Given the description of an element on the screen output the (x, y) to click on. 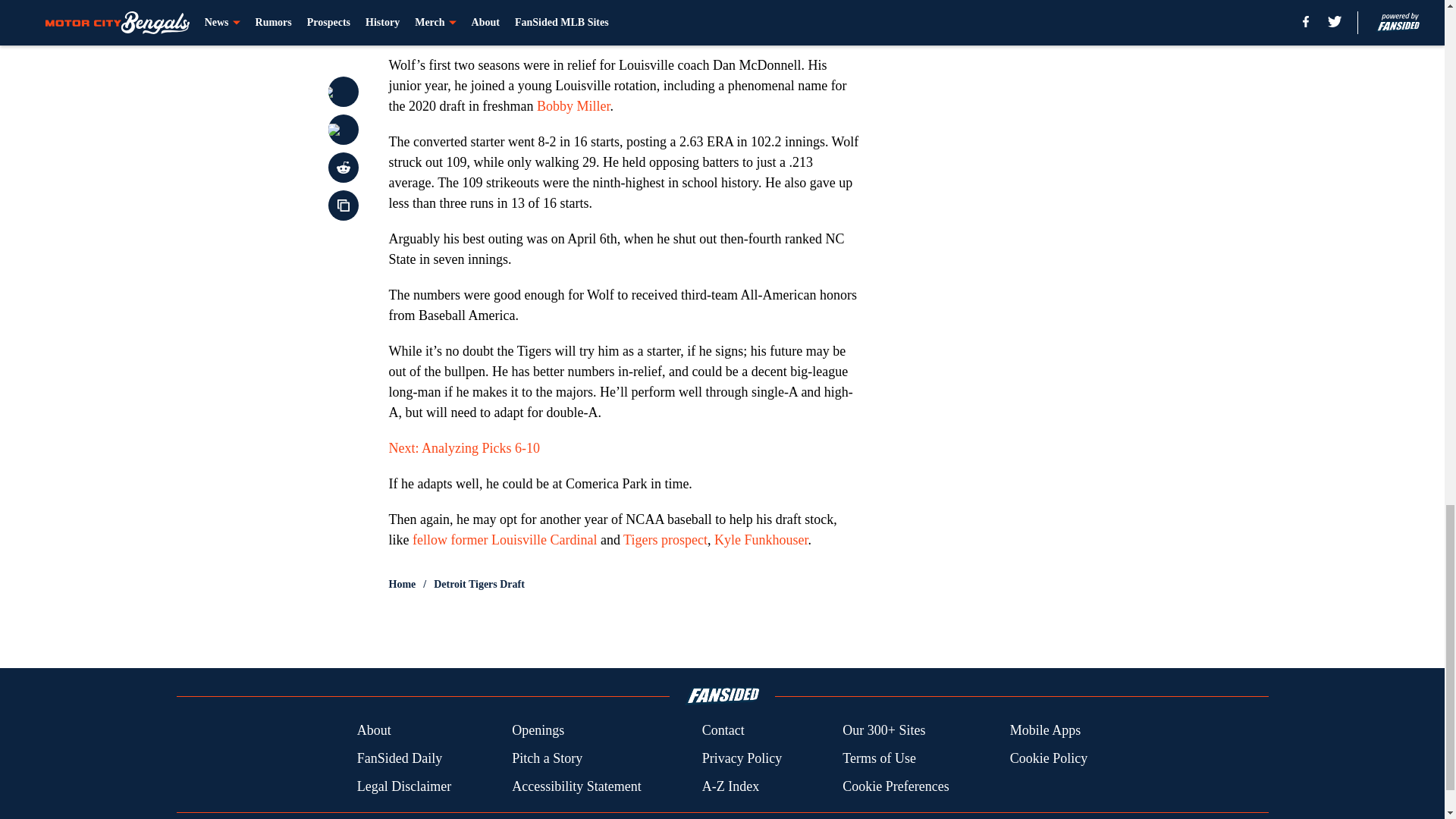
Next: Analyzing Picks 6-10 (463, 447)
Home (401, 584)
Detroit Tigers Draft (478, 584)
Pitch a Story (547, 758)
Terms of Use (879, 758)
FanSided Daily (399, 758)
Kyle Funkhouser (761, 539)
Tigers prospect (665, 539)
Mobile Apps (1045, 730)
Privacy Policy (742, 758)
